Given the description of an element on the screen output the (x, y) to click on. 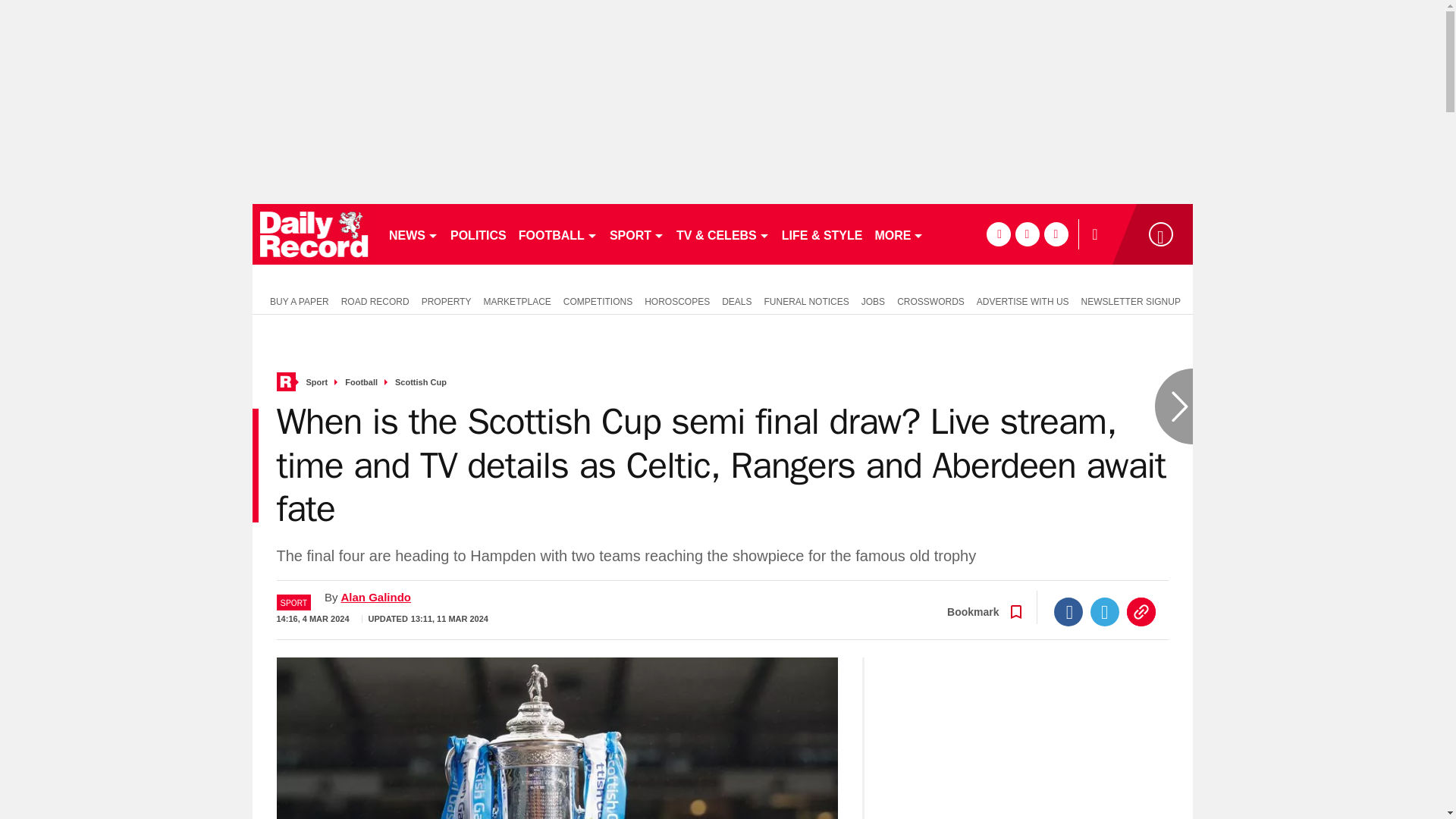
NEWS (413, 233)
twitter (1026, 233)
FOOTBALL (558, 233)
dailyrecord (313, 233)
Twitter (1104, 611)
SPORT (636, 233)
POLITICS (478, 233)
Facebook (1068, 611)
facebook (997, 233)
instagram (1055, 233)
